Given the description of an element on the screen output the (x, y) to click on. 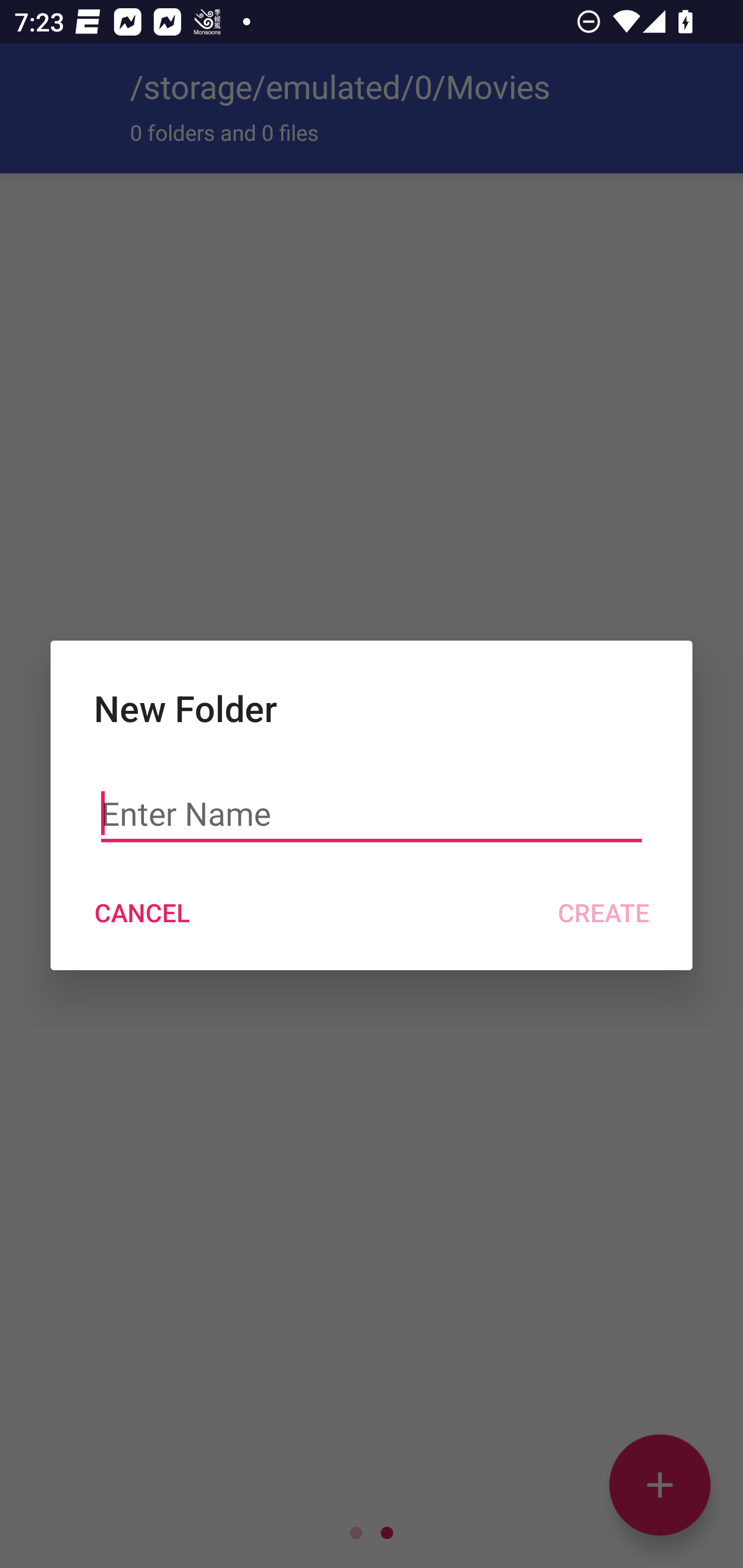
Enter Name (371, 813)
CANCEL (141, 912)
CREATE (602, 912)
